Given the description of an element on the screen output the (x, y) to click on. 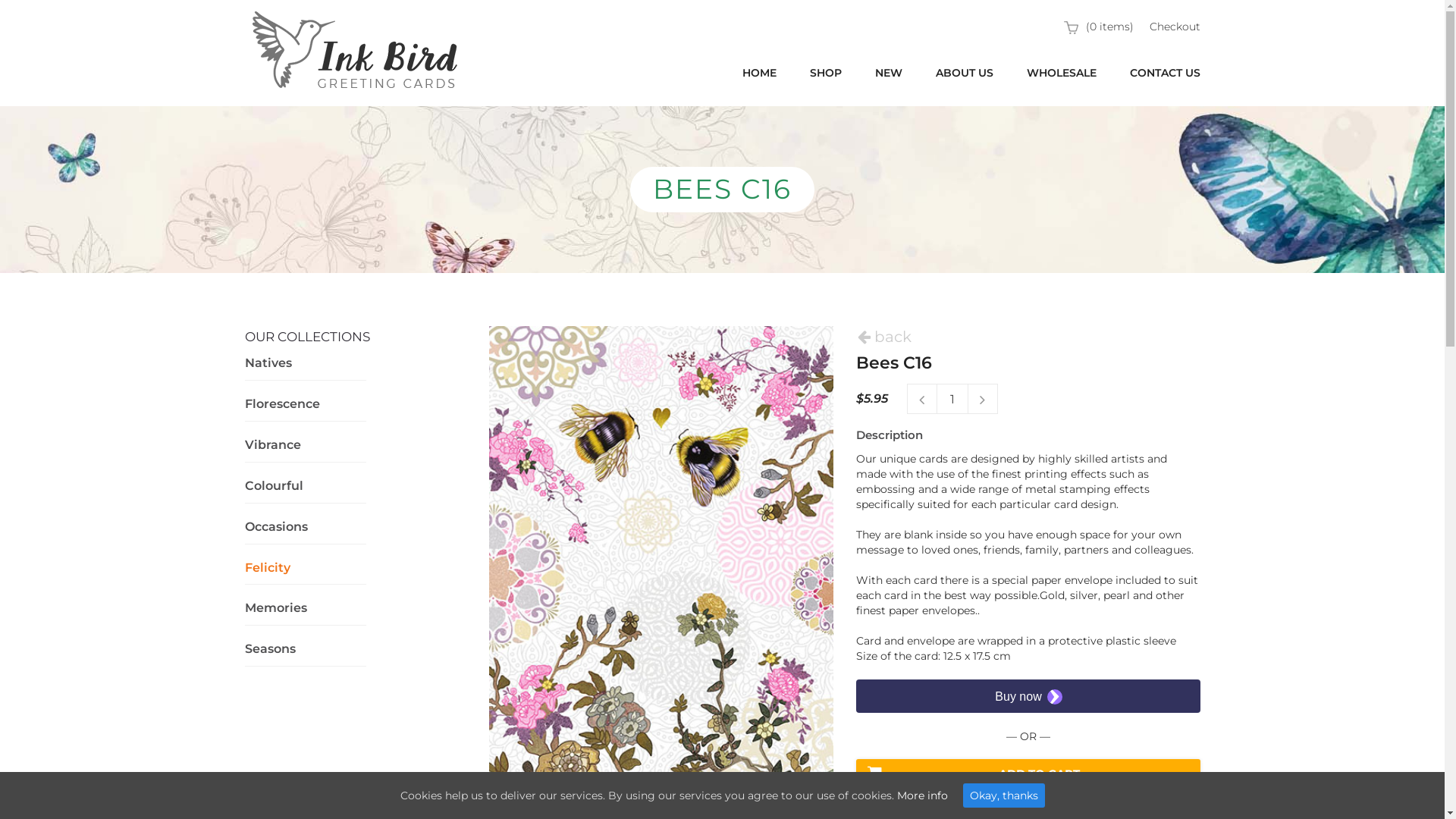
Bees-C16 Element type: hover (661, 571)
Colourful Element type: text (273, 485)
Vibrance Element type: text (272, 444)
Checkout Element type: text (1174, 26)
Seasons Element type: text (269, 648)
HOME Element type: text (758, 74)
Okay, thanks Element type: text (1003, 795)
Occasions Element type: text (275, 526)
NEW Element type: text (888, 74)
ADD TO CART Element type: text (1028, 774)
WHOLESALE Element type: text (1061, 74)
Florescence Element type: text (281, 403)
ABOUT US Element type: text (964, 74)
SHOP Element type: text (825, 74)
More info Element type: text (921, 795)
Memories Element type: text (275, 607)
Qty Element type: hover (951, 398)
Ink Bird Element type: hover (354, 51)
Natives Element type: text (267, 362)
back Element type: text (883, 340)
Secure payment button frame Element type: hover (1028, 695)
Felicity Element type: text (266, 566)
CONTACT US Element type: text (1164, 74)
